Given the description of an element on the screen output the (x, y) to click on. 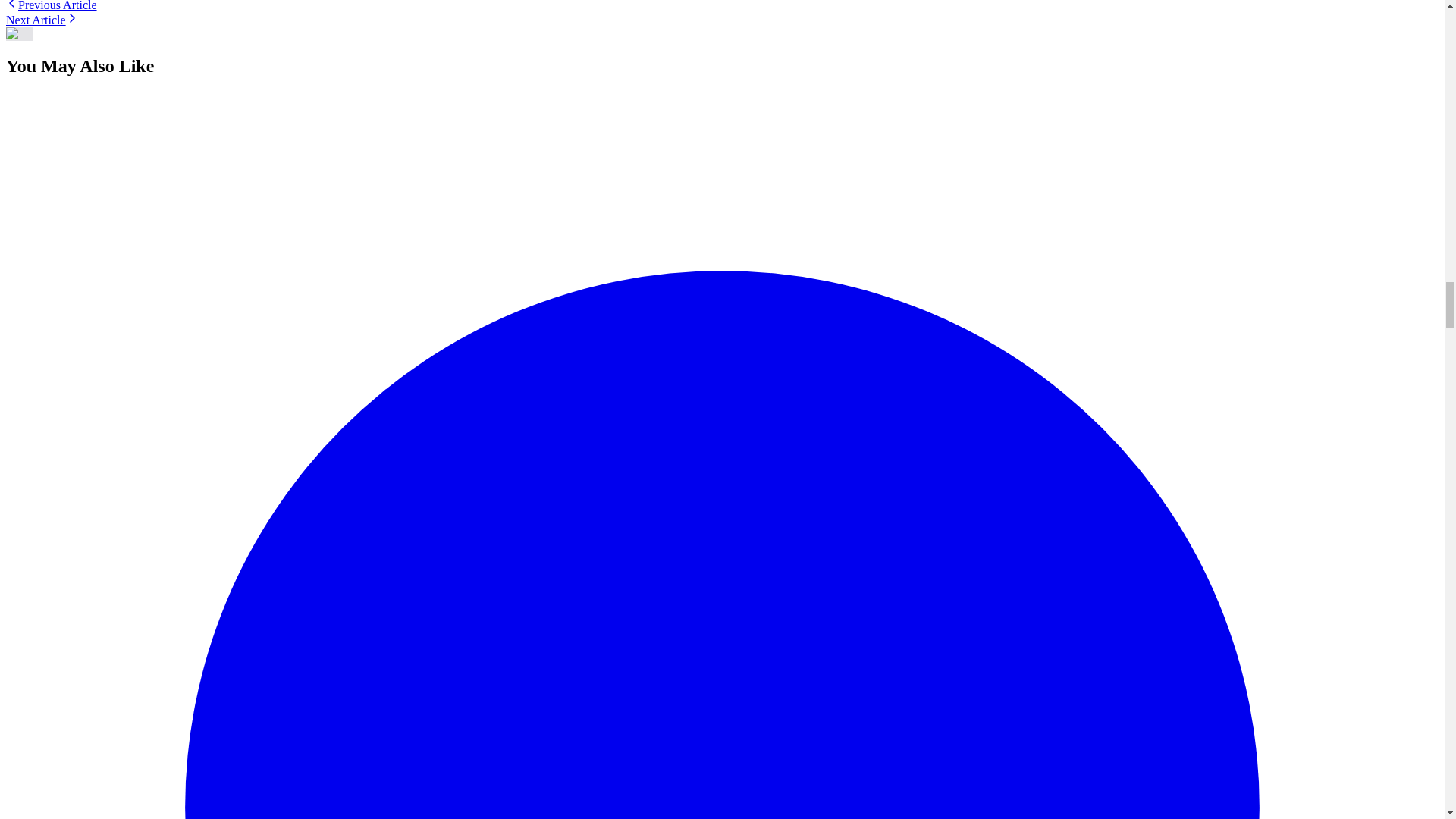
Previous Article (51, 5)
Next Article (41, 19)
